Given the description of an element on the screen output the (x, y) to click on. 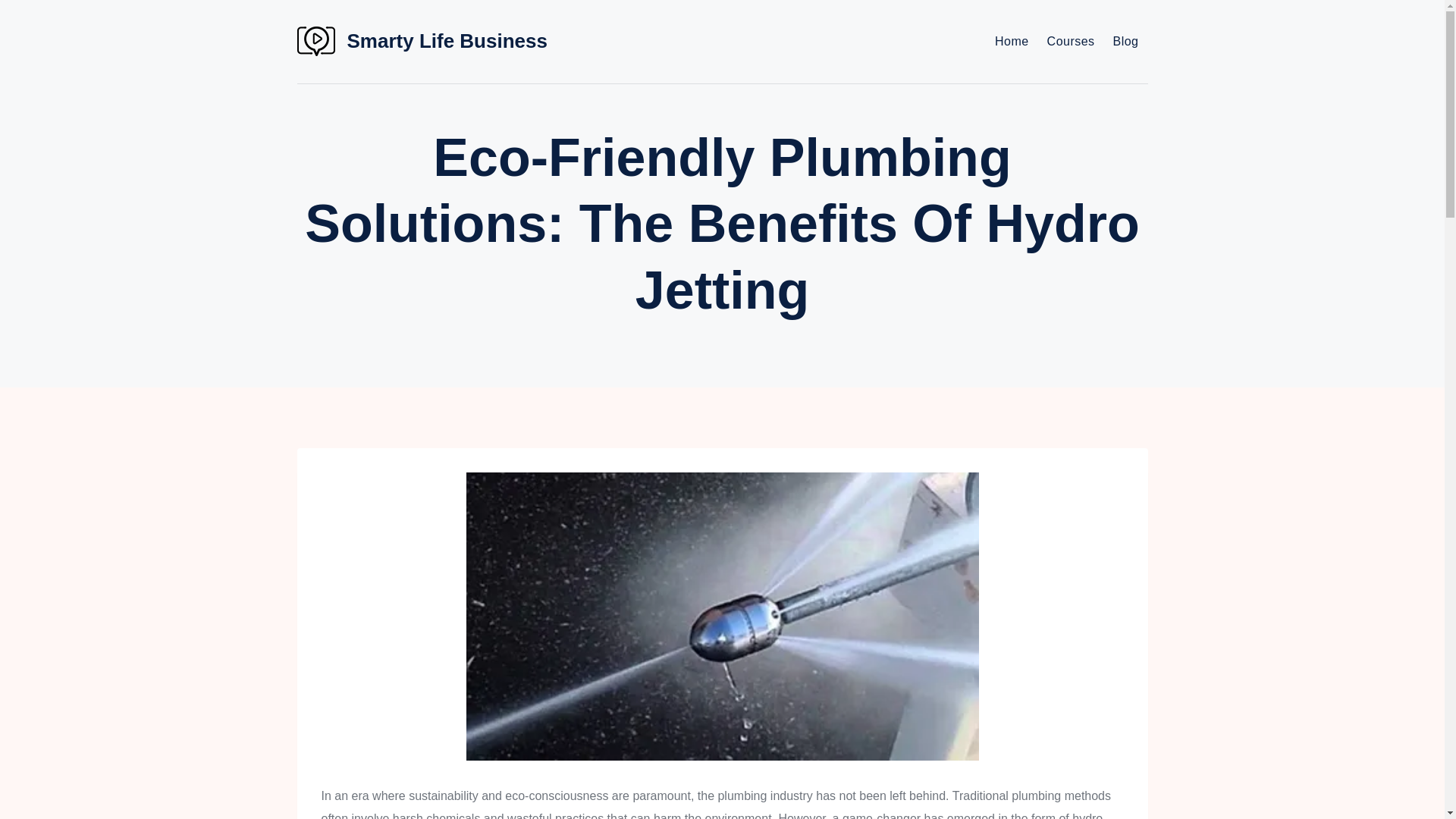
Blog (1125, 41)
Smarty Life Business (422, 40)
Courses (1070, 41)
Home (1011, 41)
